Given the description of an element on the screen output the (x, y) to click on. 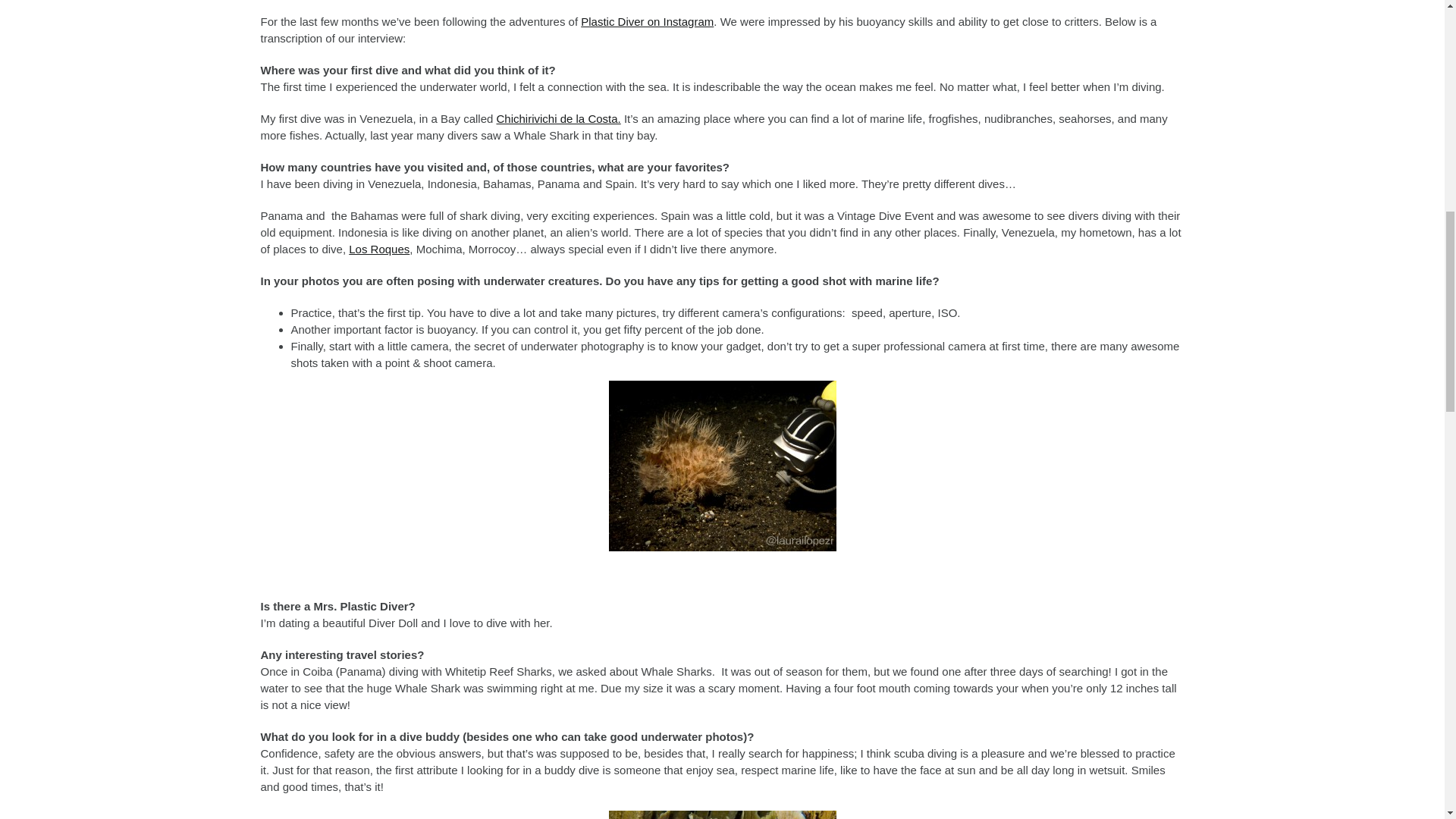
Plastic Diver and Hairy Frogfish (721, 465)
Plastic Diver on Instagram (646, 21)
Los Roques scuba diving national park (379, 248)
Chichiriviche de la Costa dive site (558, 118)
